Given the description of an element on the screen output the (x, y) to click on. 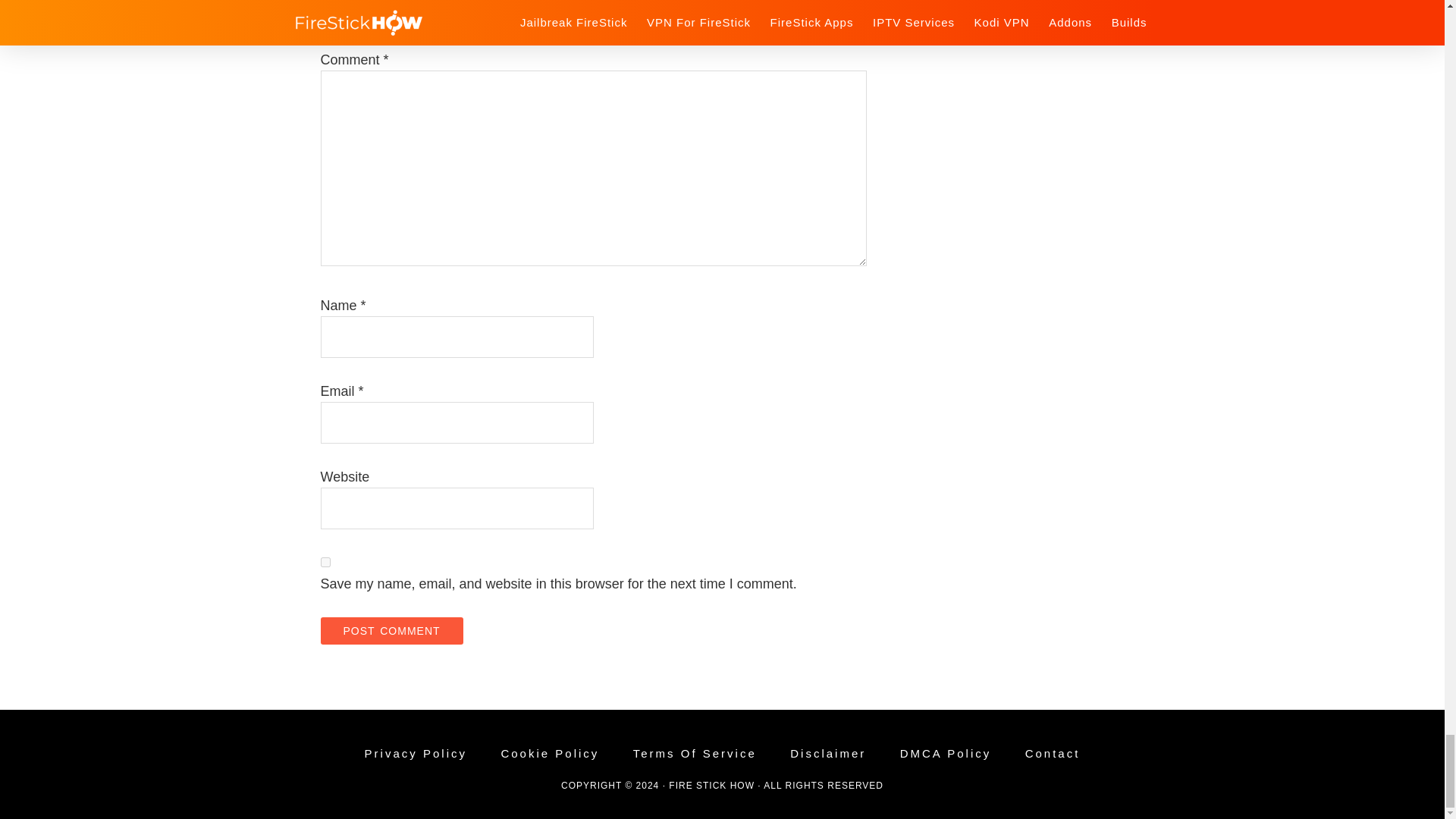
Post Comment (391, 630)
yes (325, 562)
